Given the description of an element on the screen output the (x, y) to click on. 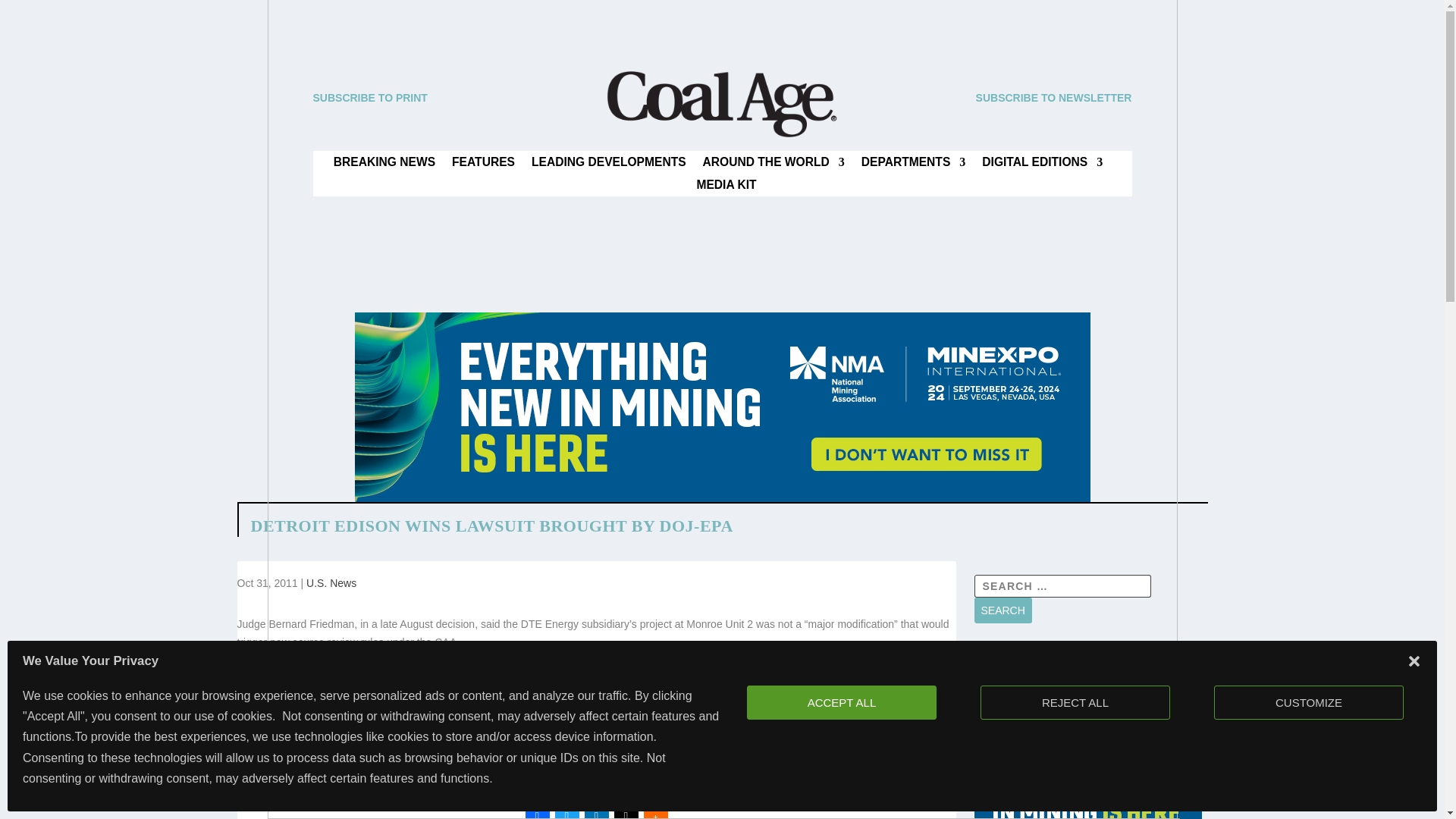
CUSTOMIZE (1309, 702)
More share links (654, 811)
REJECT ALL (1078, 702)
SUBSCRIBE TO PRINT (369, 97)
ACCEPT ALL (855, 702)
BREAKING NEWS (384, 165)
Search (1002, 610)
FEATURES (483, 165)
AROUND THE WORLD (773, 165)
Share this on Facebook (536, 811)
SUBSCRIBE TO NEWSLETTER (1053, 97)
LEADING DEVELOPMENTS (608, 165)
Add this to LinkedIn (595, 811)
Tweet this ! (566, 811)
Email this  (626, 811)
